Given the description of an element on the screen output the (x, y) to click on. 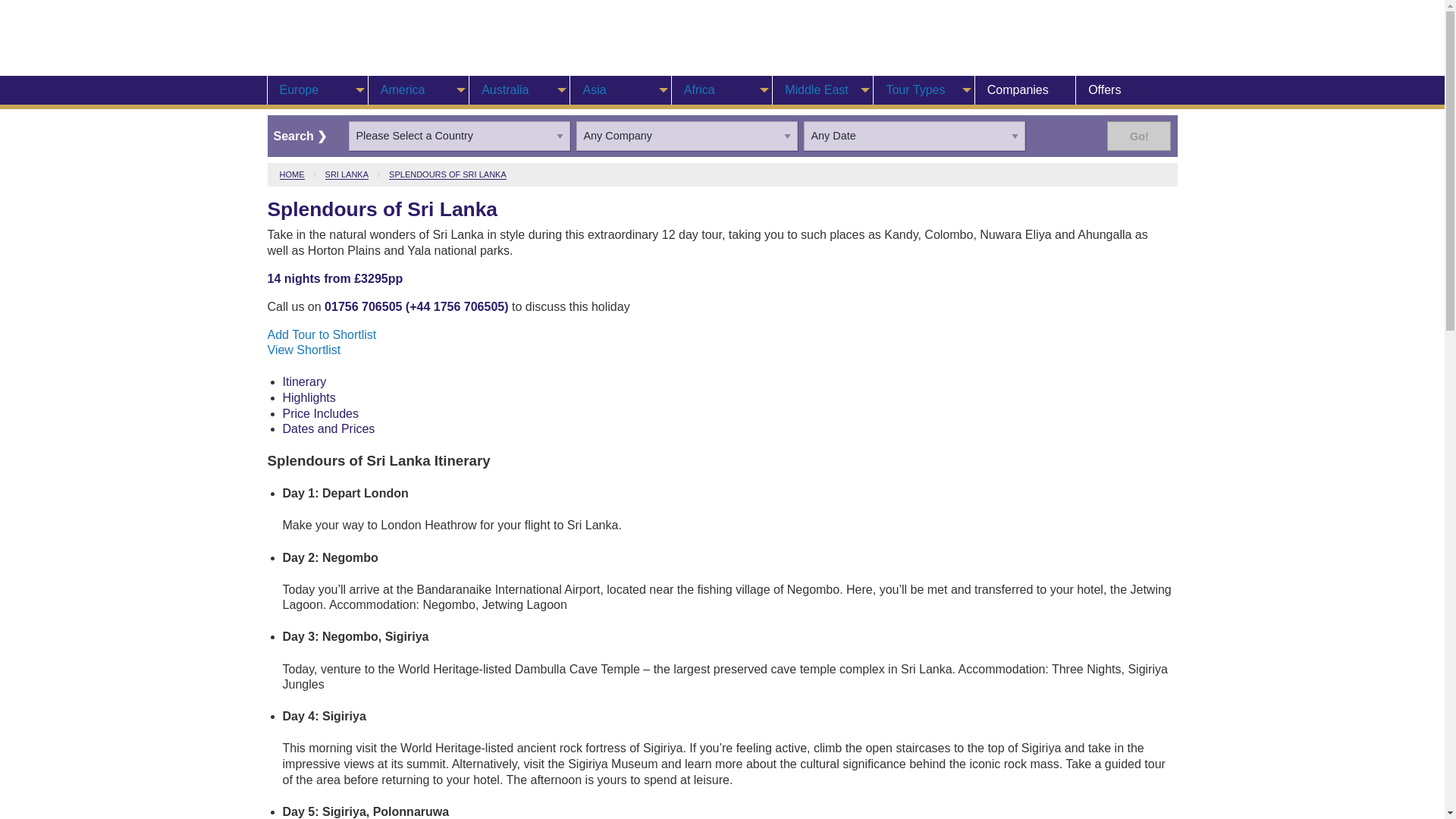
Asia (620, 90)
Africa (722, 90)
Go! (1138, 135)
America (418, 90)
Europe (317, 90)
Australia (519, 90)
